Given the description of an element on the screen output the (x, y) to click on. 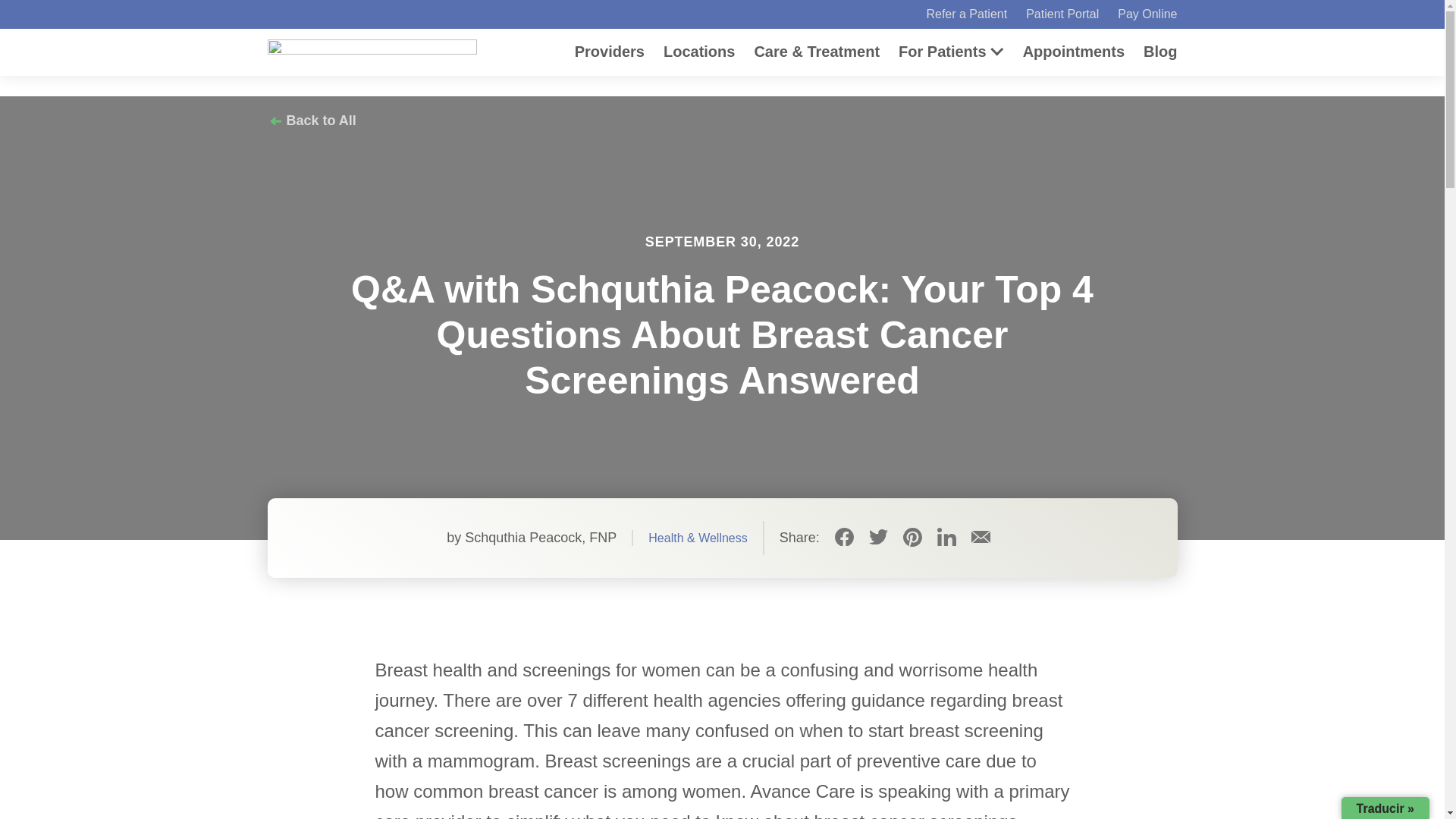
Back to All (310, 120)
Providers (610, 50)
Return to Homepage (371, 47)
For Patients (942, 50)
Blog (1159, 50)
Appointments (1073, 50)
Locations (699, 50)
Refer a Patient (966, 13)
Avance Care (371, 47)
Pay Online (1147, 13)
Patient Portal (1062, 13)
